Given the description of an element on the screen output the (x, y) to click on. 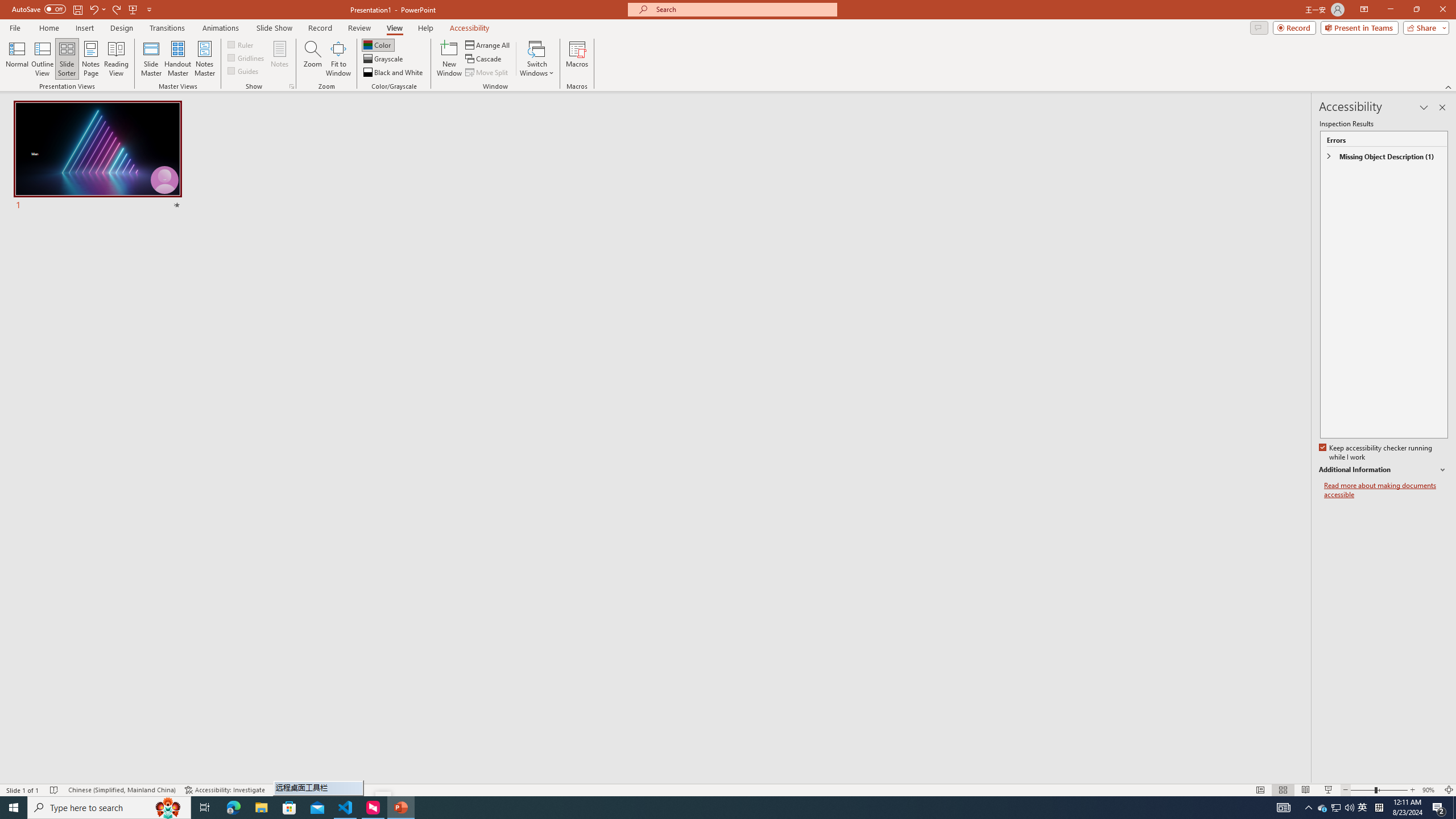
Color (377, 44)
Handout Master (177, 58)
Notes (279, 58)
Notes Page (90, 58)
Switch Windows (537, 58)
